Given the description of an element on the screen output the (x, y) to click on. 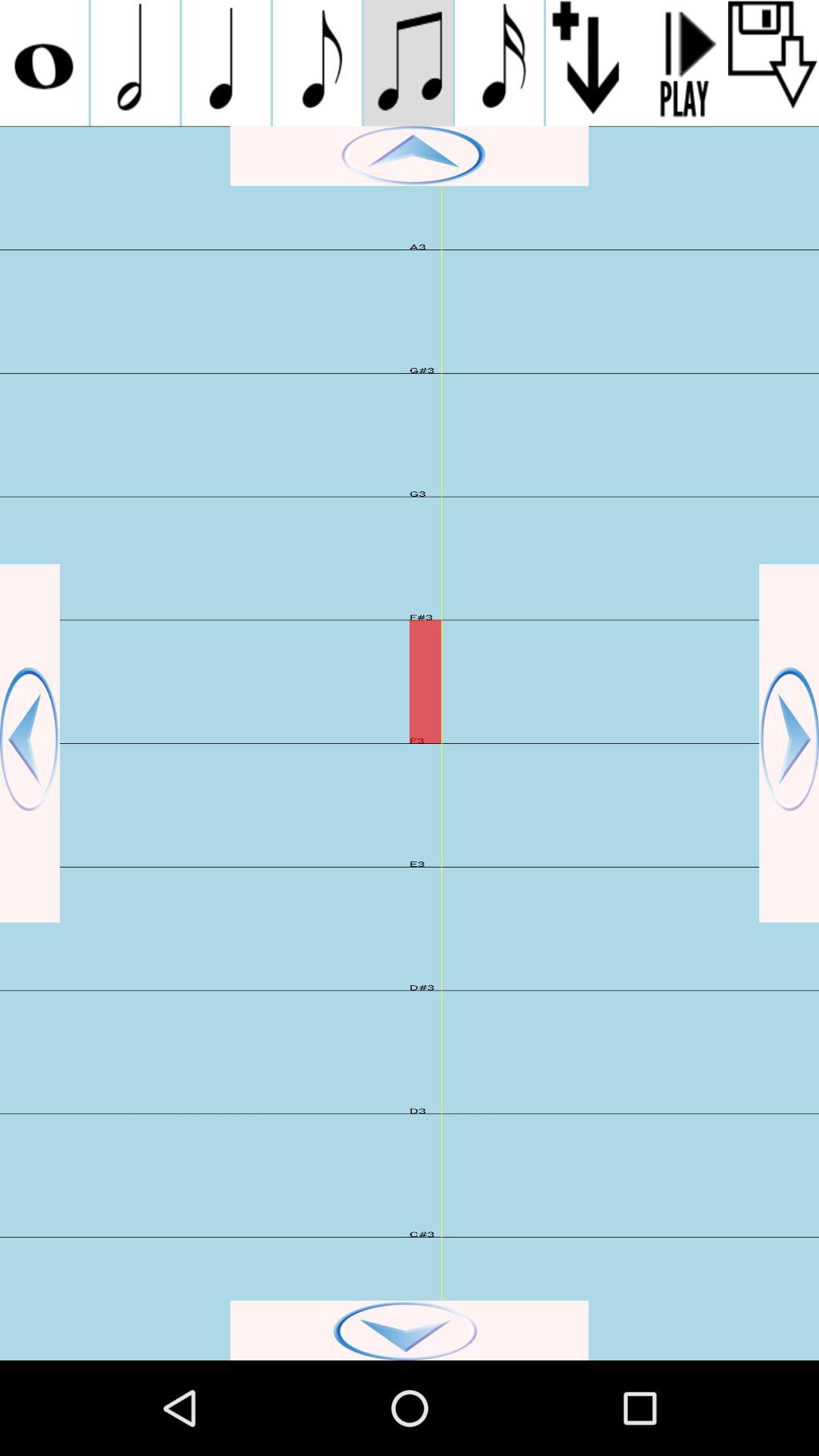
add selected note (591, 63)
